Given the description of an element on the screen output the (x, y) to click on. 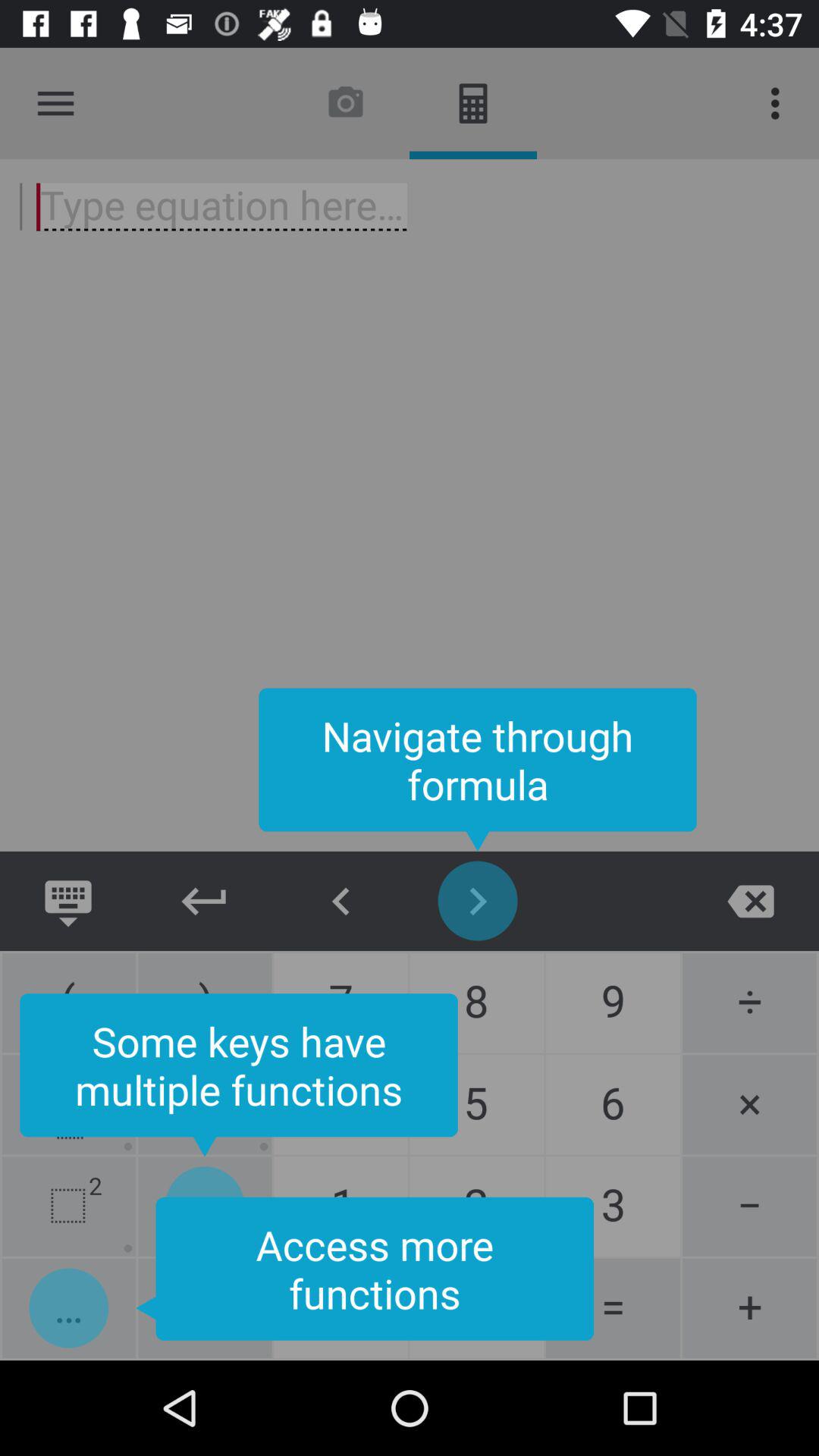
choose icon below the navigate through formula icon (341, 900)
